Given the description of an element on the screen output the (x, y) to click on. 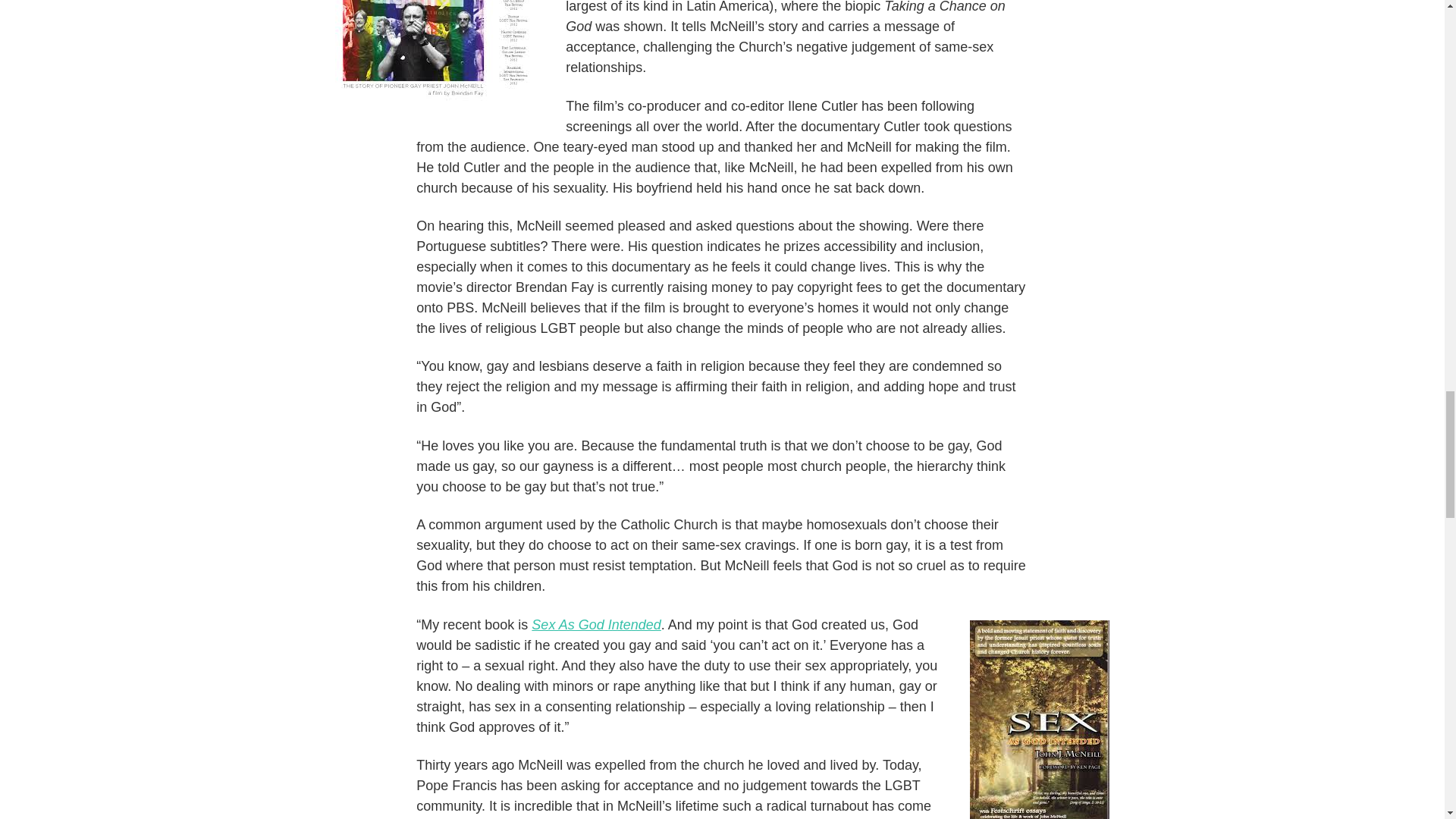
Sex As God Intended (596, 624)
